Given the description of an element on the screen output the (x, y) to click on. 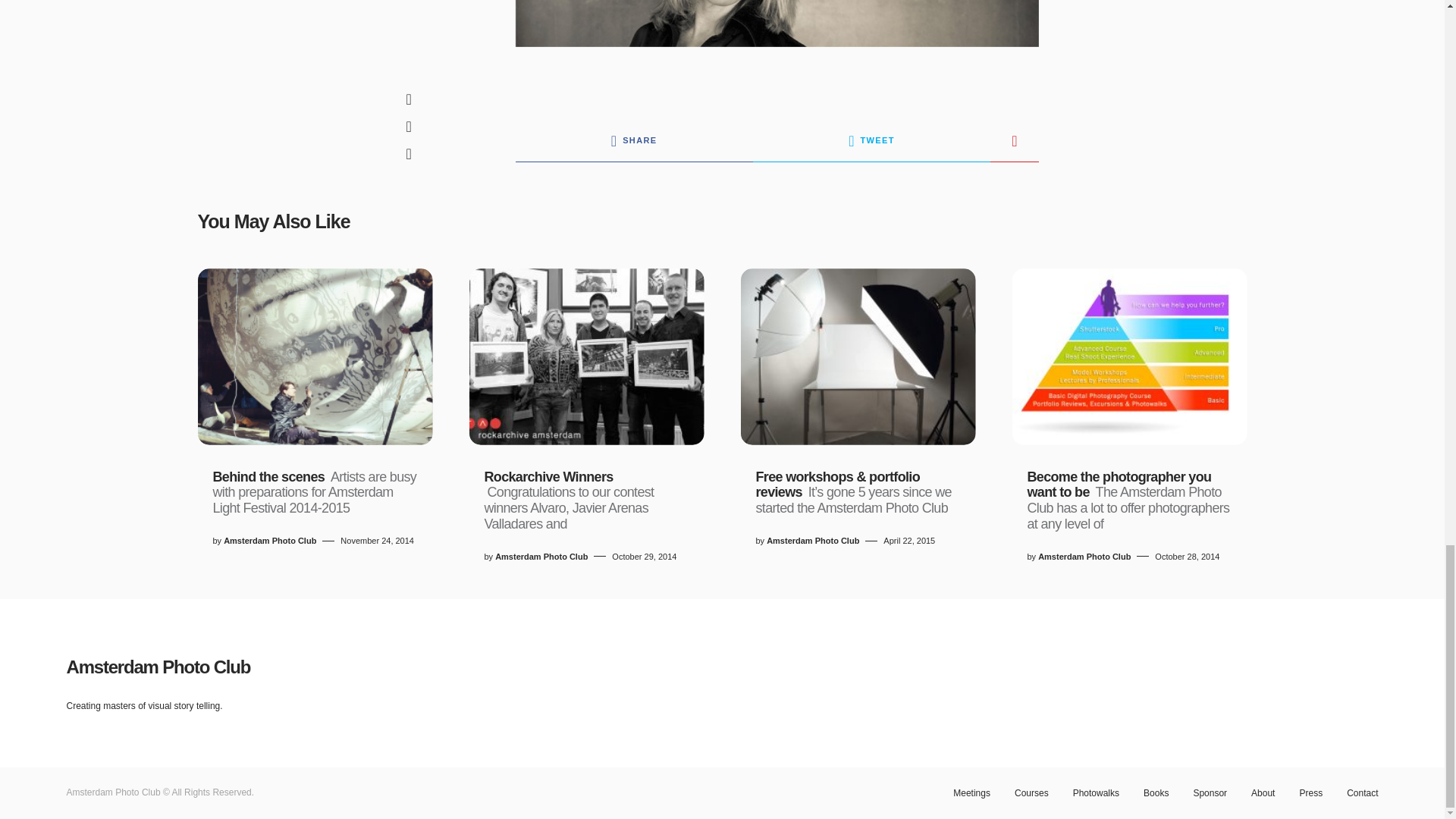
View all posts by Amsterdam Photo Club (813, 540)
View all posts by Amsterdam Photo Club (541, 556)
View all posts by Amsterdam Photo Club (1084, 556)
View all posts by Amsterdam Photo Club (269, 540)
